Given the description of an element on the screen output the (x, y) to click on. 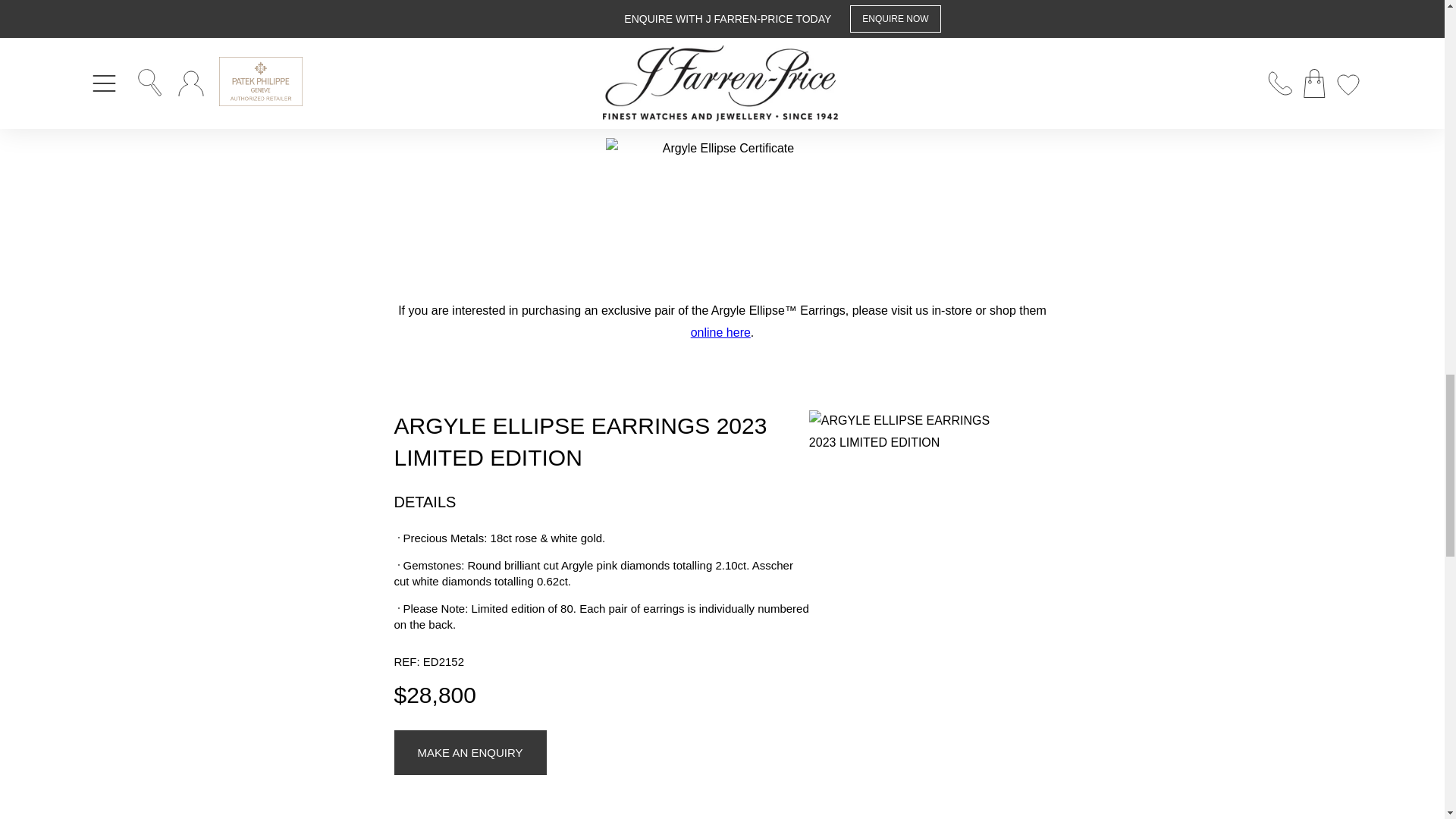
Argyle Ellipse Earrings (720, 332)
